Given the description of an element on the screen output the (x, y) to click on. 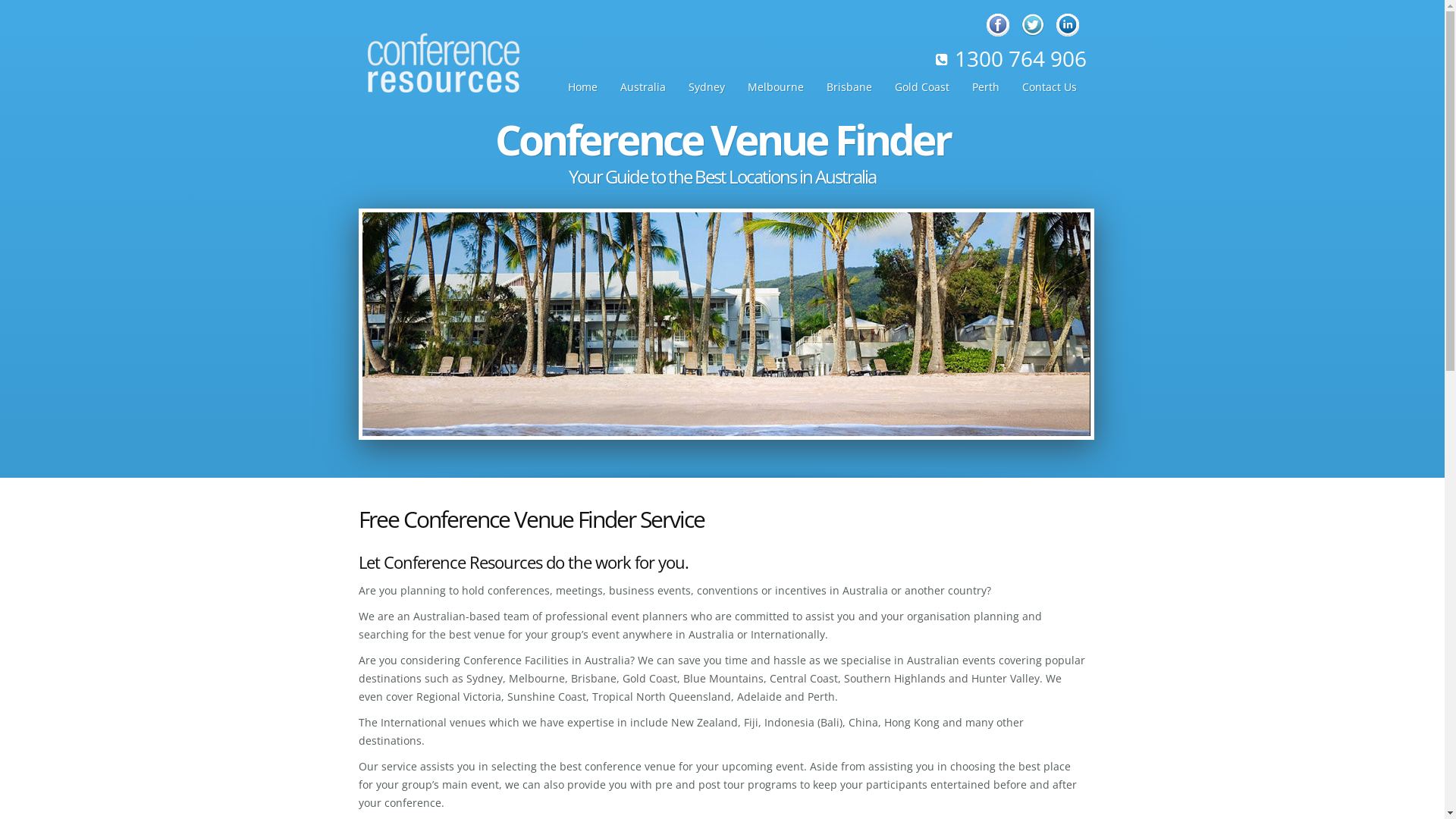
Home Element type: text (582, 87)
Australia Element type: text (641, 87)
Melbourne Element type: text (774, 87)
Visit Us On Facebook Element type: hover (996, 25)
Brisbane Element type: text (848, 87)
Perth Element type: text (984, 87)
Contact Us Element type: text (1048, 87)
Visit Us On Twitter Element type: hover (1031, 25)
Conference Venue Finder Element type: text (721, 138)
Sydney Element type: text (705, 87)
Gold Coast Element type: text (921, 87)
Visit Us On Linkedin Element type: hover (1066, 25)
